Given the description of an element on the screen output the (x, y) to click on. 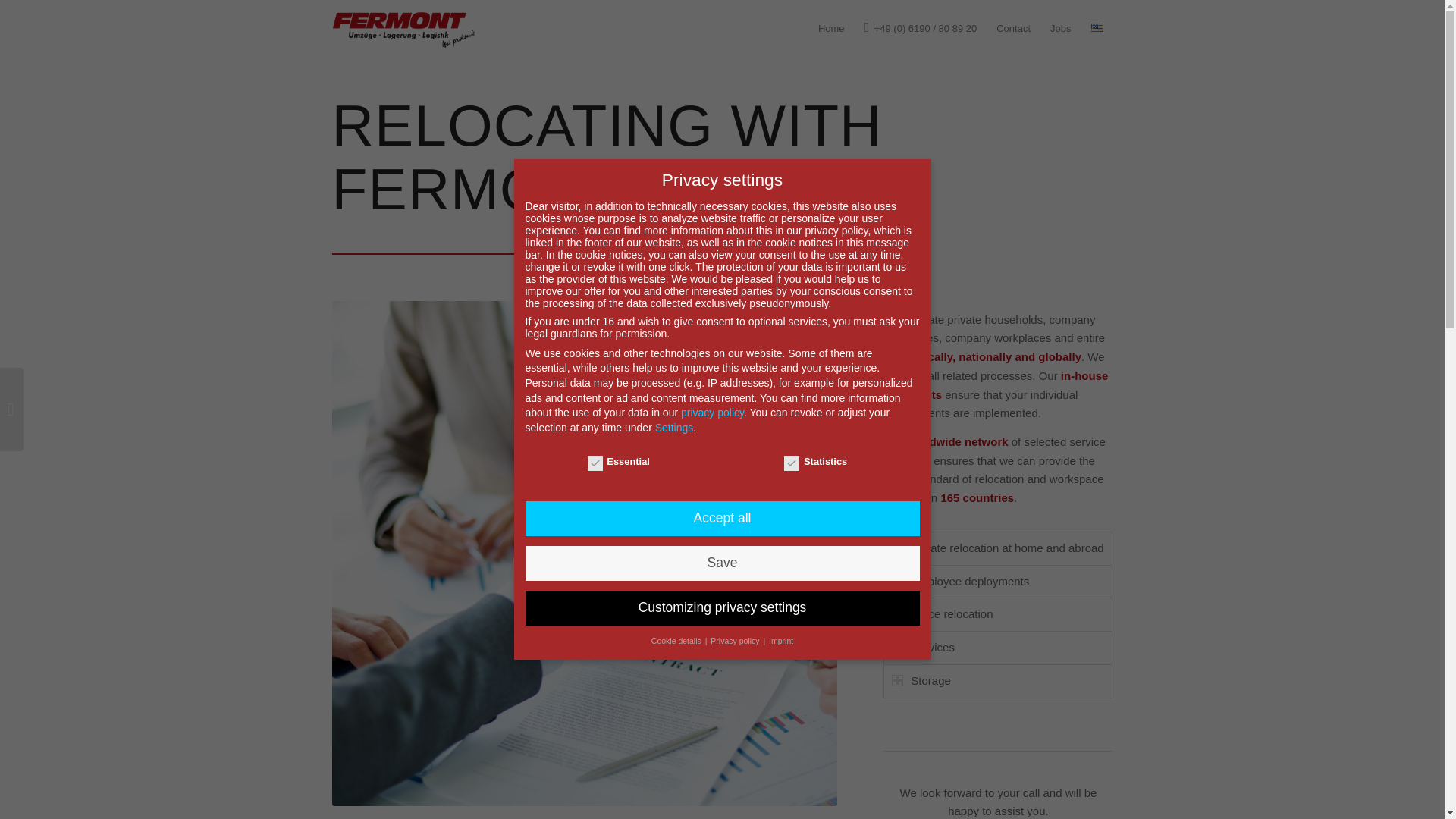
Customizing privacy settings (721, 607)
Jobs (1060, 28)
Accept all (721, 518)
Save (721, 563)
Home (831, 28)
Imprint (780, 640)
Privacy policy (735, 640)
Contact (1014, 28)
privacy policy (712, 412)
Cookie details (676, 640)
Settings (674, 427)
